Given the description of an element on the screen output the (x, y) to click on. 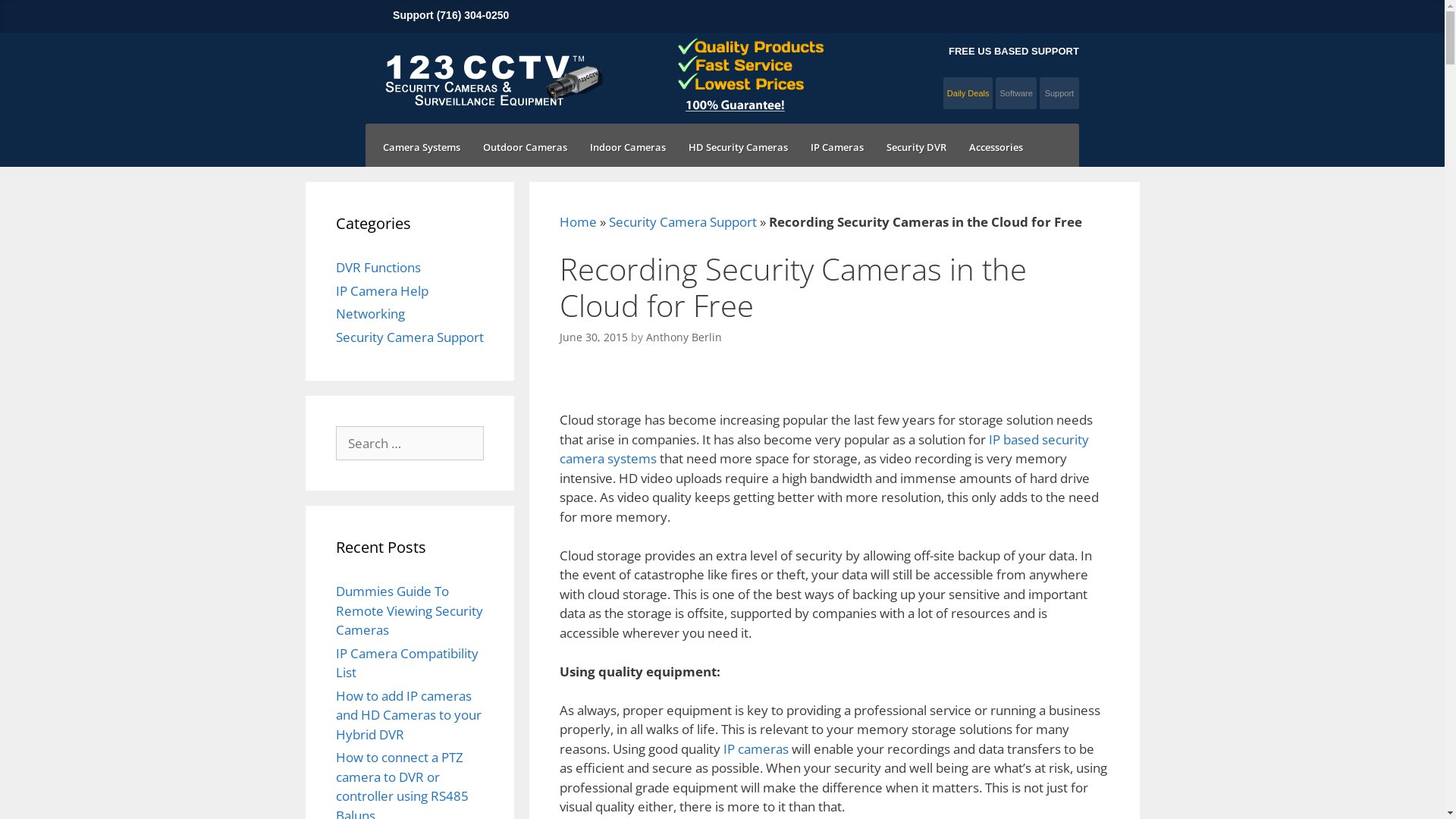
IP Camera Help Element type: text (381, 290)
Accessories Element type: text (995, 146)
Networking Element type: text (369, 313)
Search Element type: text (35, 16)
Outdoor Cameras Element type: text (525, 146)
Indoor Cameras Element type: text (627, 146)
Dummies Guide To Remote Viewing Security Cameras Element type: text (408, 610)
IP Cameras Element type: text (836, 146)
Search for: Element type: hover (409, 443)
Daily Deals Element type: text (968, 93)
DVR Functions Element type: text (377, 267)
Home Element type: text (577, 221)
Anthony Berlin Element type: text (683, 336)
Security Camera Support Element type: text (682, 221)
123CCTV Security Cameras Element type: hover (491, 64)
IP cameras Element type: text (755, 748)
How to add IP cameras and HD Cameras to your Hybrid DVR Element type: text (407, 715)
IP Camera Compatibility List Element type: text (406, 662)
Security DVR Element type: text (916, 146)
IP based security camera systems Element type: text (823, 448)
Security Camera Support Element type: text (409, 336)
Camera Systems Element type: text (421, 146)
HD Security Cameras Element type: text (737, 146)
Software Element type: text (1015, 93)
Support Element type: text (1059, 93)
June 30, 2015 Element type: text (593, 336)
